Given the description of an element on the screen output the (x, y) to click on. 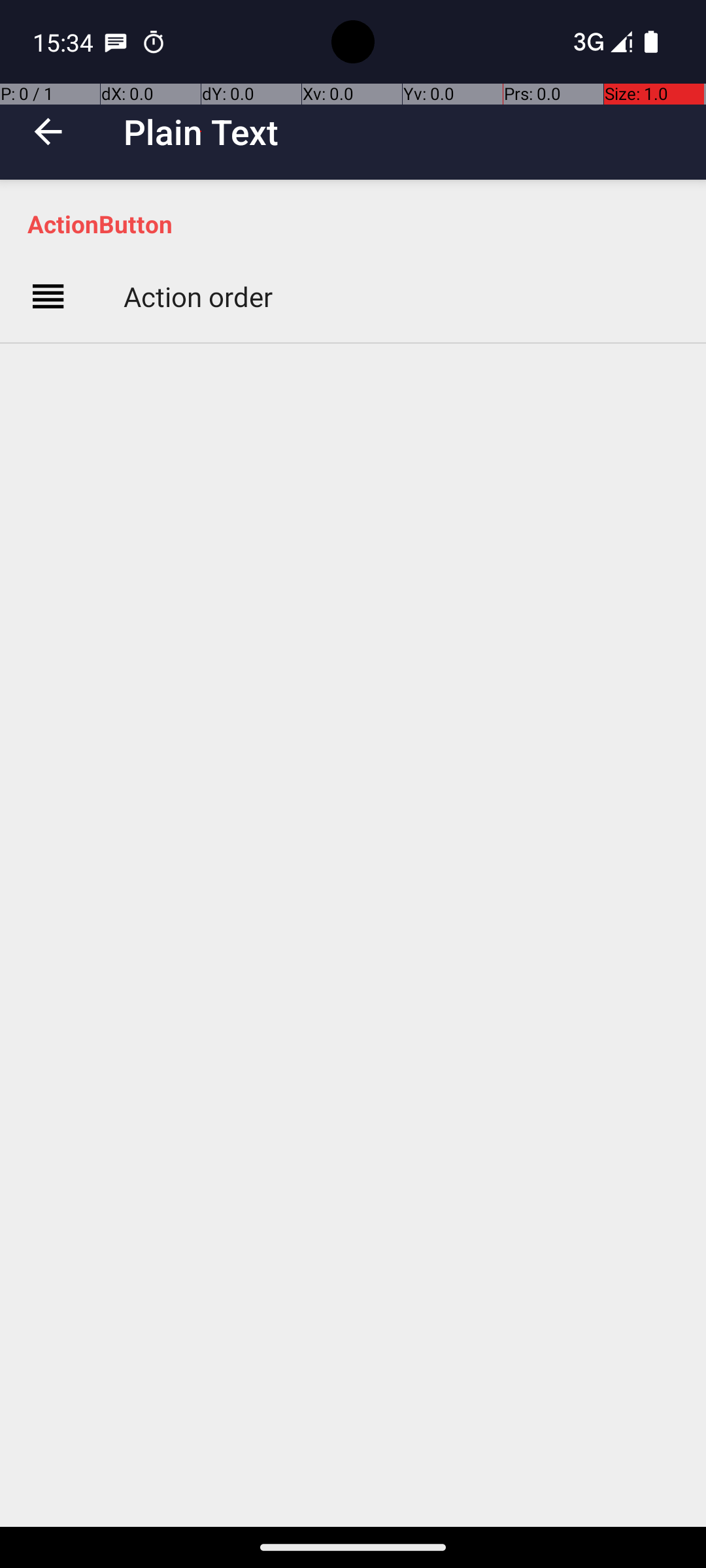
ActionButton Element type: android.widget.TextView (359, 223)
Action order Element type: android.widget.TextView (197, 295)
